Given the description of an element on the screen output the (x, y) to click on. 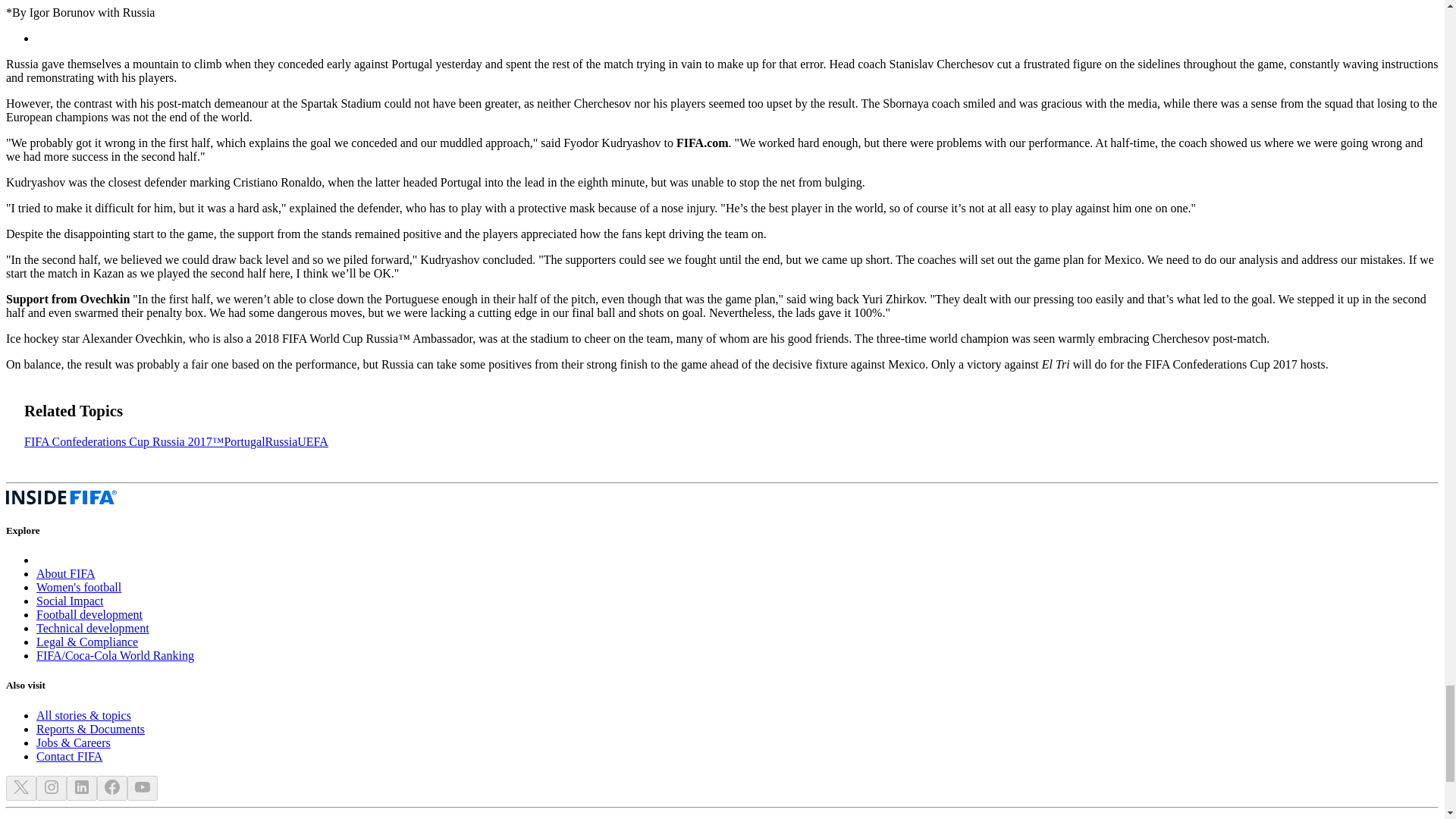
About FIFA (66, 573)
Social Impact (69, 600)
Football development (89, 614)
Portugal (244, 441)
Technical development (92, 627)
Contact FIFA (68, 756)
Russia (281, 441)
Women's football (78, 586)
UEFA (313, 441)
